Given the description of an element on the screen output the (x, y) to click on. 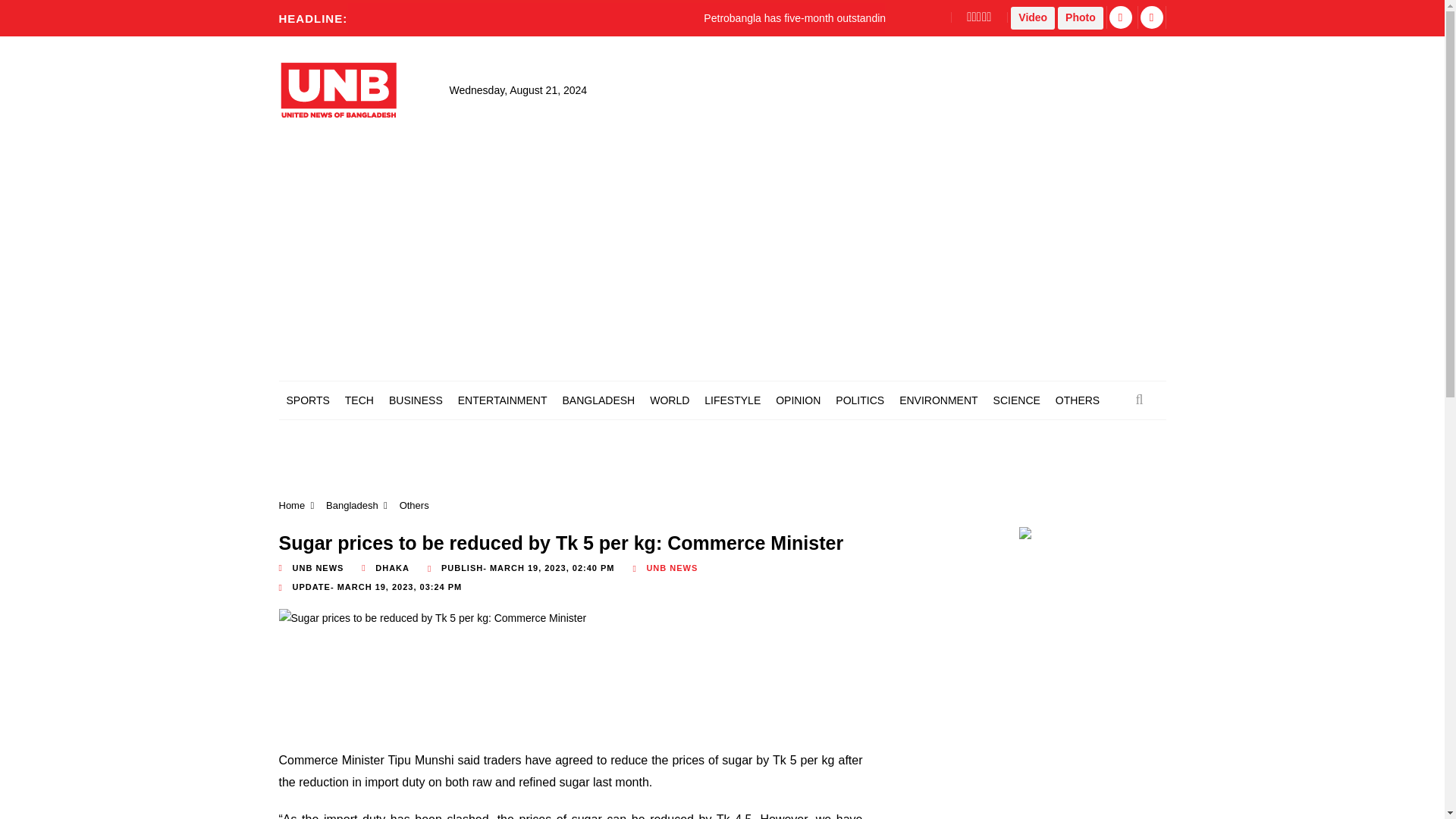
ENTERTAINMENT (501, 400)
SPORTS (308, 400)
Video (1032, 17)
Advertisement (552, 692)
BUSINESS (415, 400)
Video (1031, 17)
Photo (1080, 17)
TECH (359, 400)
Photo (1080, 17)
